Given the description of an element on the screen output the (x, y) to click on. 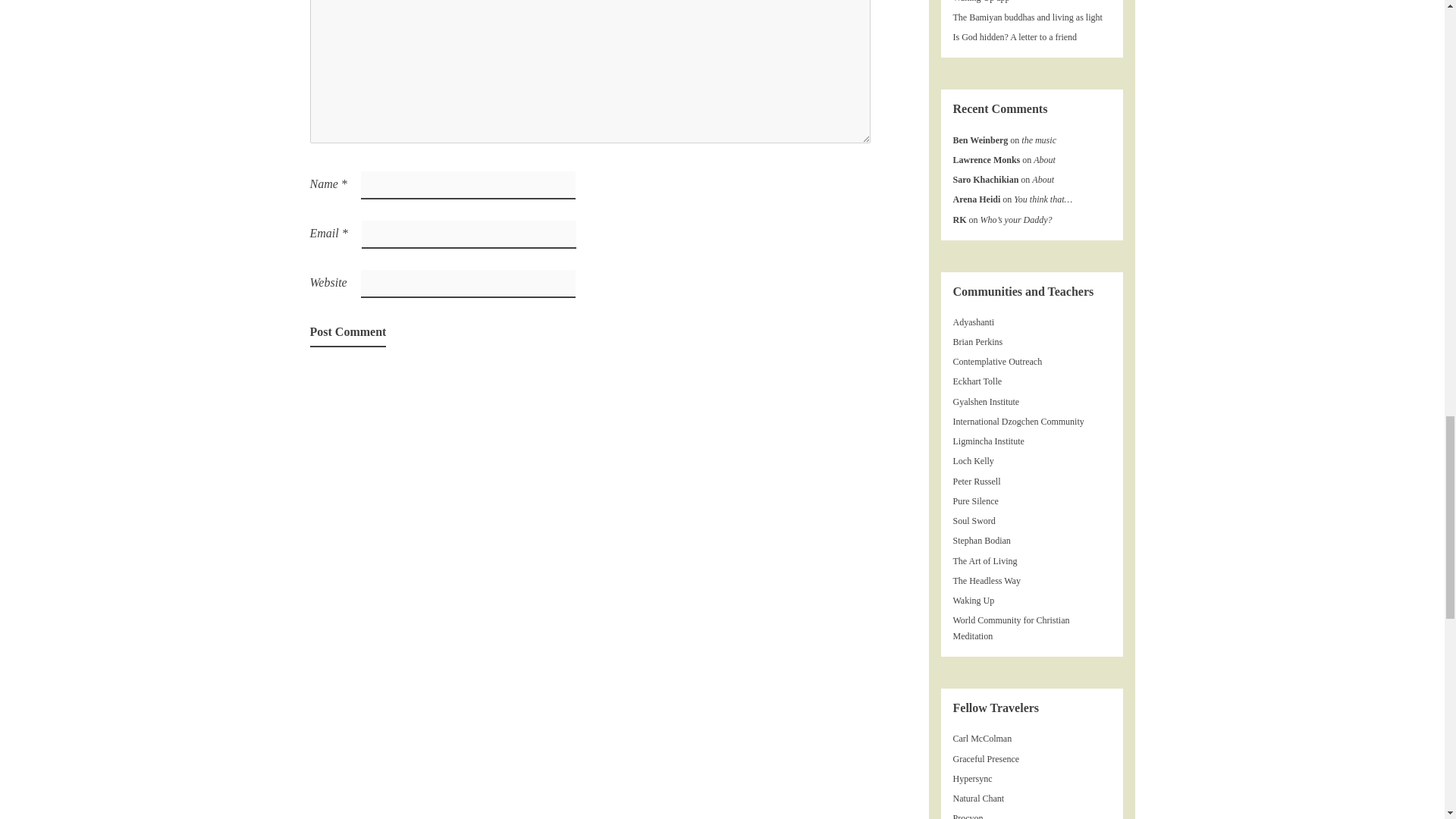
Post Comment (346, 333)
Post Comment (346, 333)
